Given the description of an element on the screen output the (x, y) to click on. 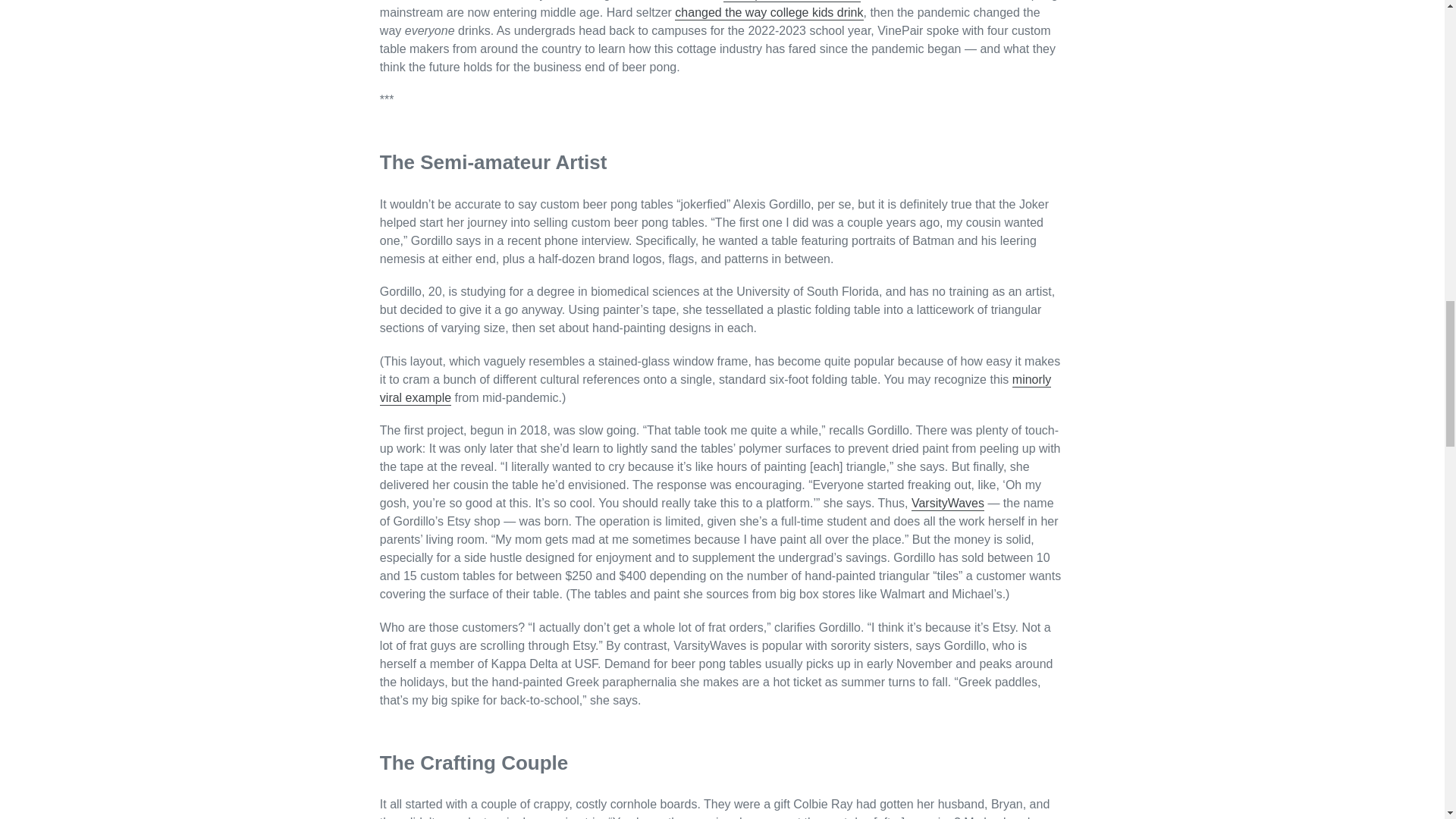
indecipherable viral chum (791, 1)
changed the way college kids drink (769, 12)
VarsityWaves (947, 503)
minorly viral example (715, 389)
